Given the description of an element on the screen output the (x, y) to click on. 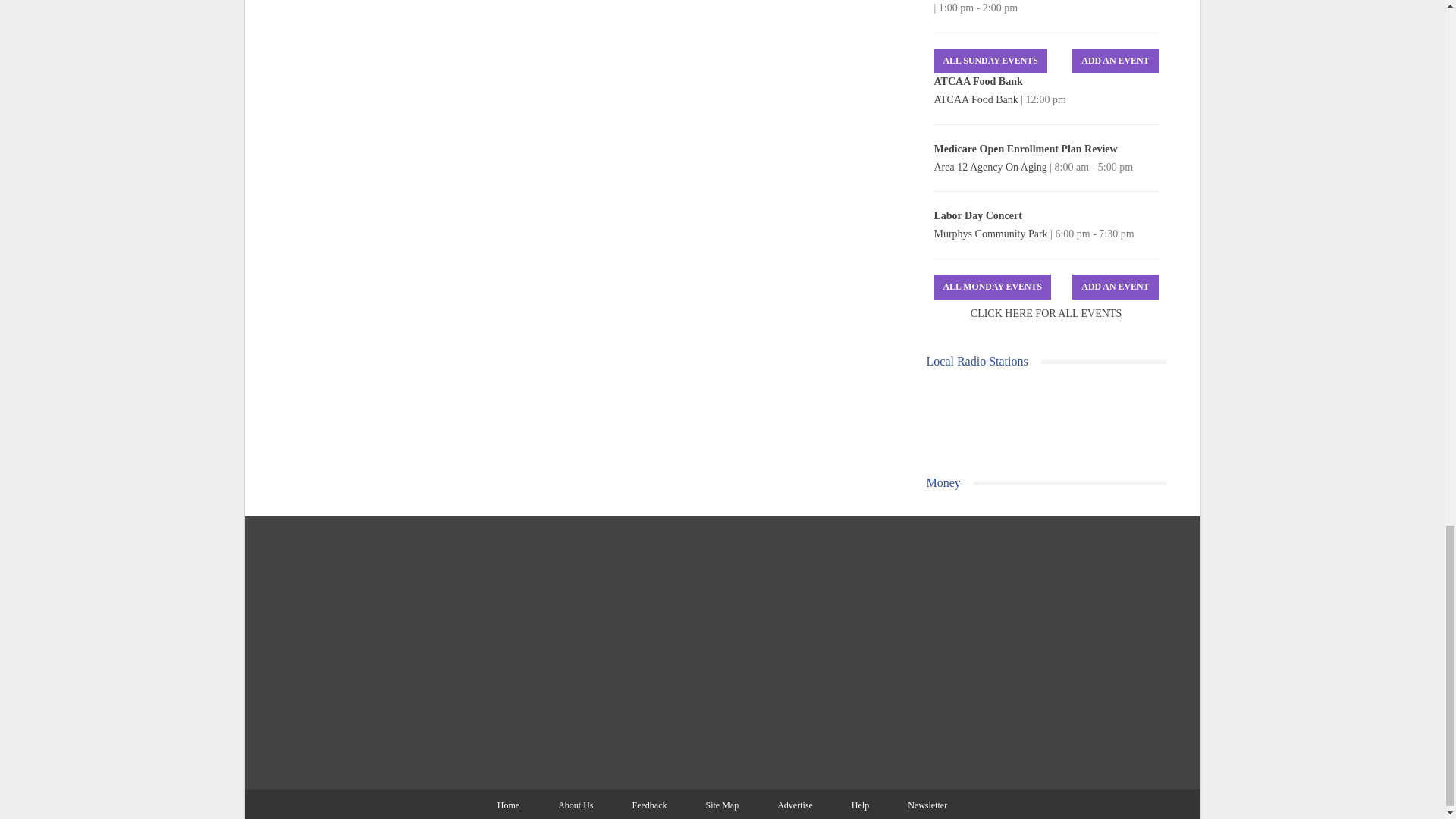
Add An Event (1114, 286)
Add An Event (1114, 60)
All Monday Events (992, 286)
All Sunday Events (990, 60)
